Given the description of an element on the screen output the (x, y) to click on. 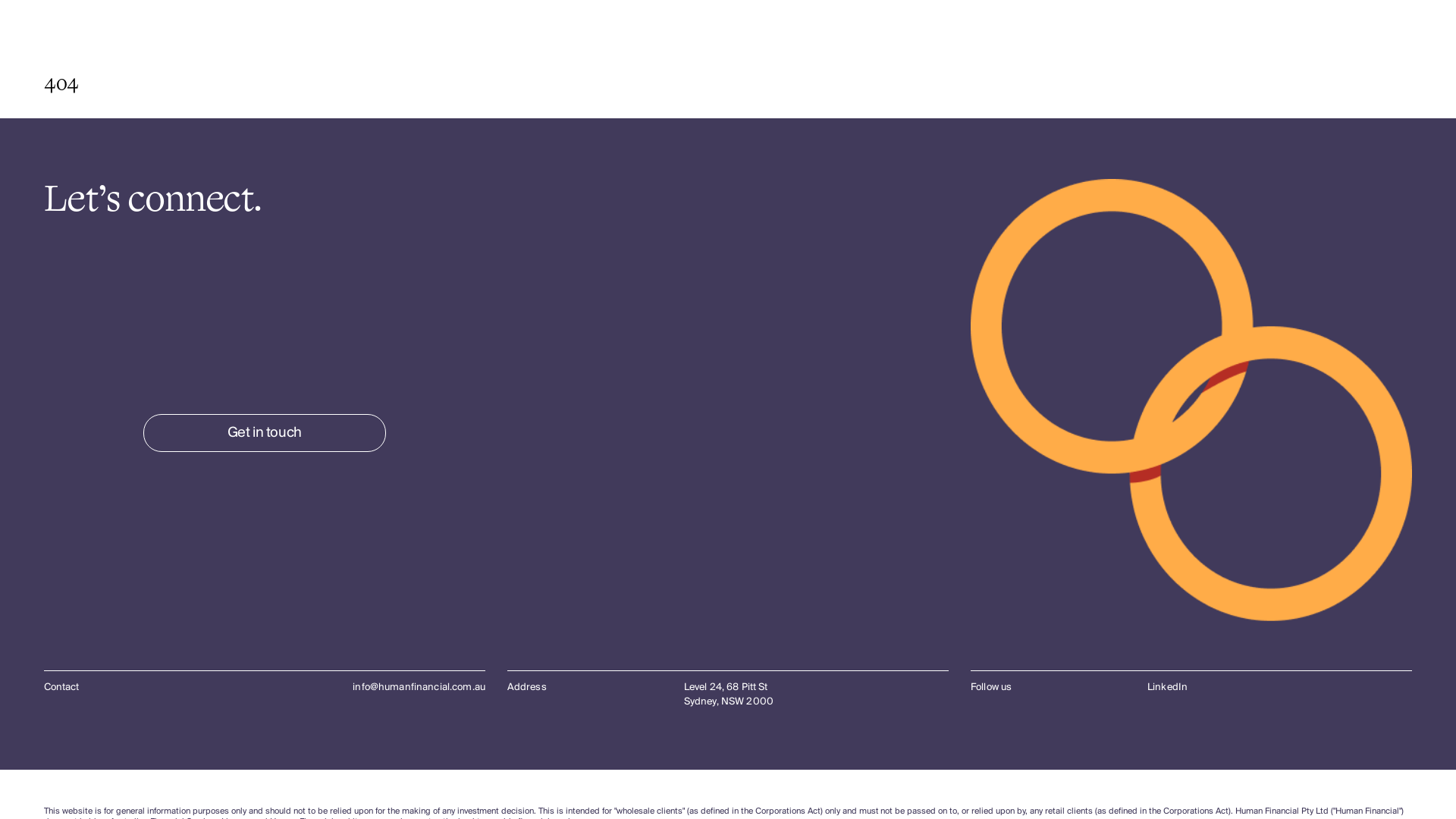
Get in touch Element type: text (264, 432)
Level 24, 68 Pitt St
Sydney, NSW 2000 Element type: text (816, 694)
info@humanfinancial.com.au Element type: text (418, 687)
LinkedIn Element type: text (1167, 687)
Get in touch Element type: text (264, 432)
